Given the description of an element on the screen output the (x, y) to click on. 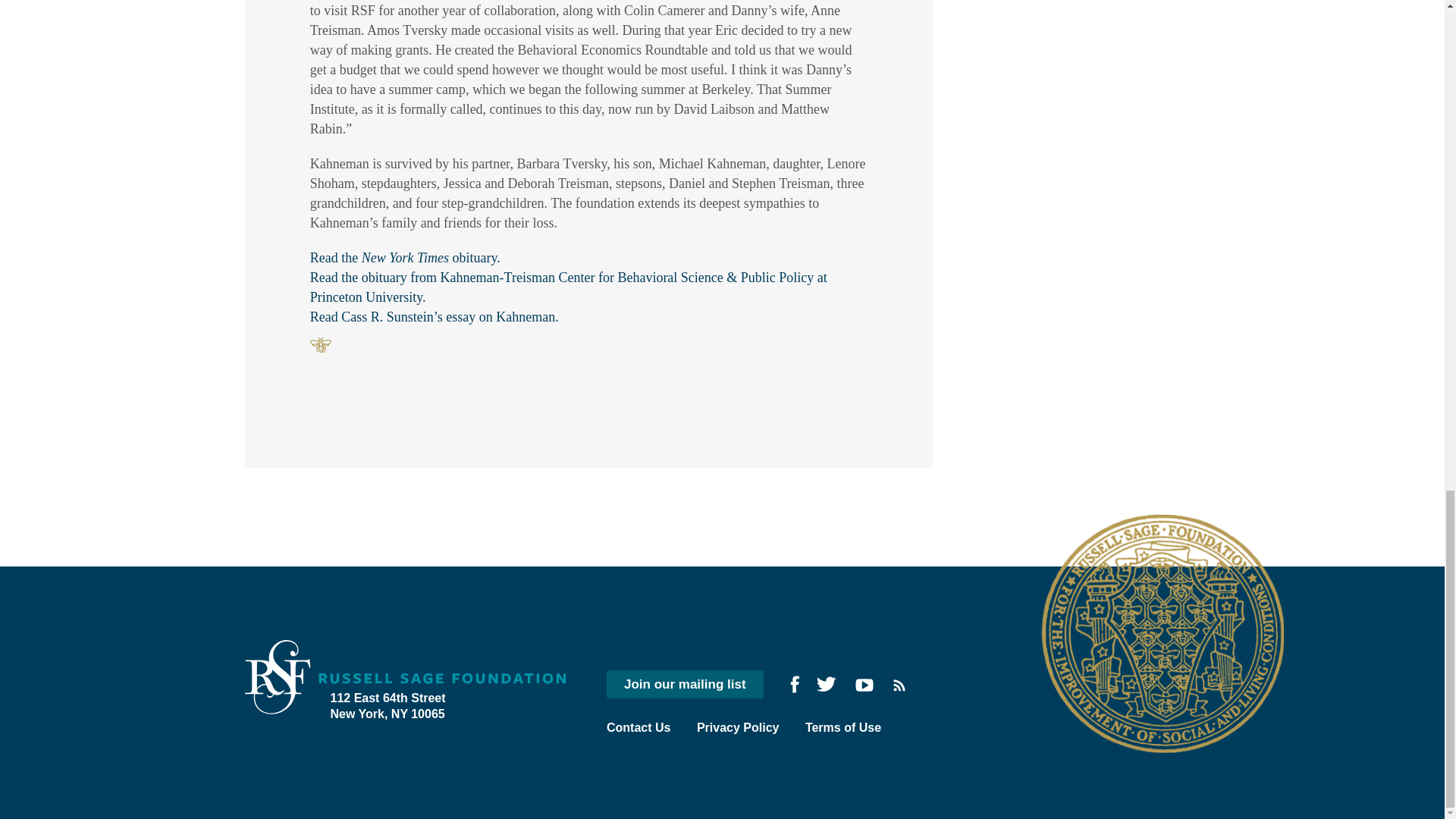
RSS Feed (899, 685)
Twitter (825, 683)
YouTube (864, 684)
